Given the description of an element on the screen output the (x, y) to click on. 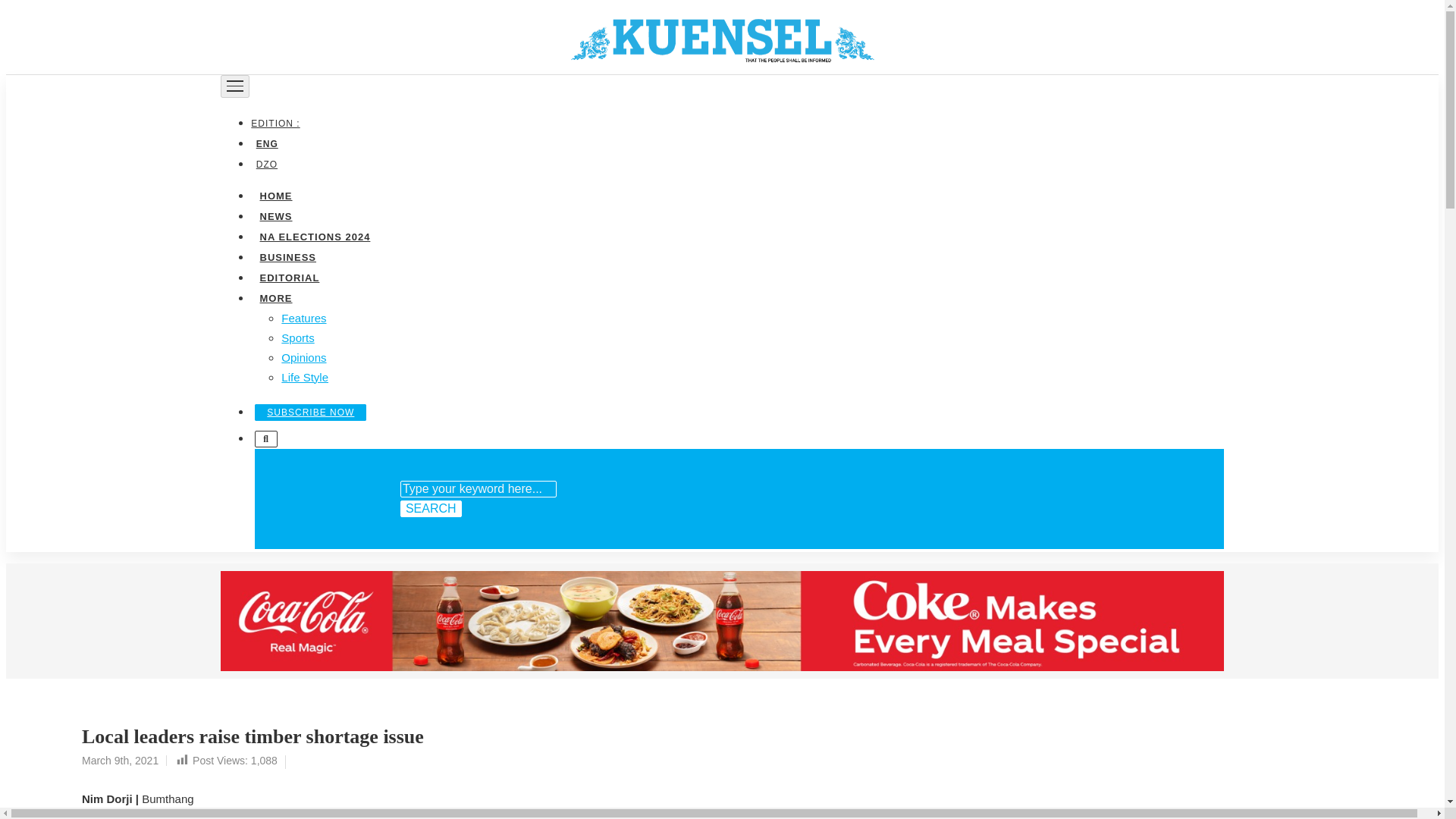
DZO (266, 163)
SEARCH (430, 508)
EDITORIAL (288, 276)
NEWS (274, 215)
SUBSCRIBE NOW (310, 411)
ENG (266, 143)
NA ELECTIONS 2024 (314, 235)
Opinions (303, 356)
Life Style (305, 376)
EDITION : (277, 122)
BUSINESS (287, 256)
Sports (297, 336)
HOME (274, 194)
Features (303, 317)
MORE (274, 297)
